Given the description of an element on the screen output the (x, y) to click on. 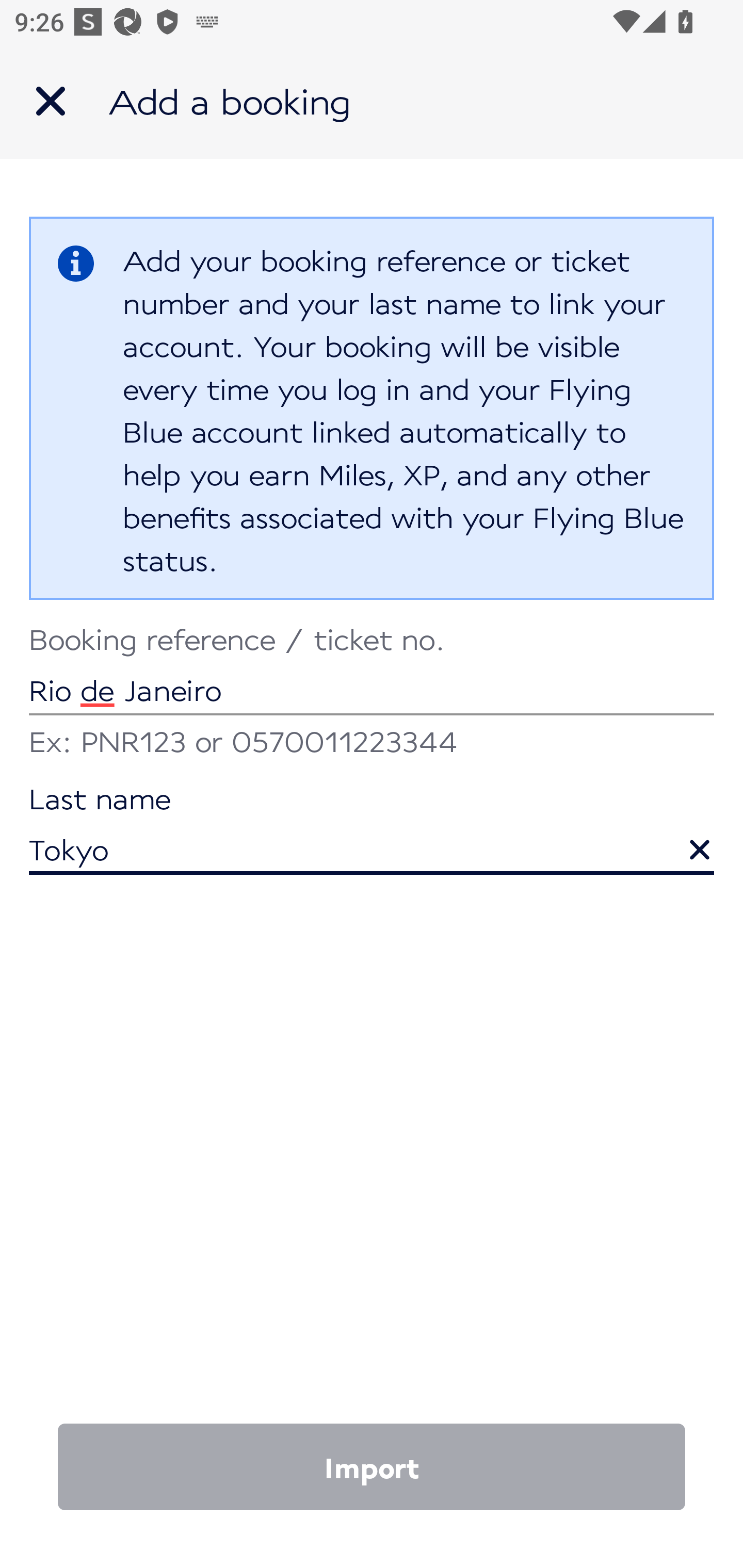
Rio de Janeiro Ex: PNR123 or 0570011223344 (371, 693)
Rio de Janeiro (371, 671)
Tokyo Clear text (371, 831)
Clear text (685, 839)
Import (371, 1466)
